Given the description of an element on the screen output the (x, y) to click on. 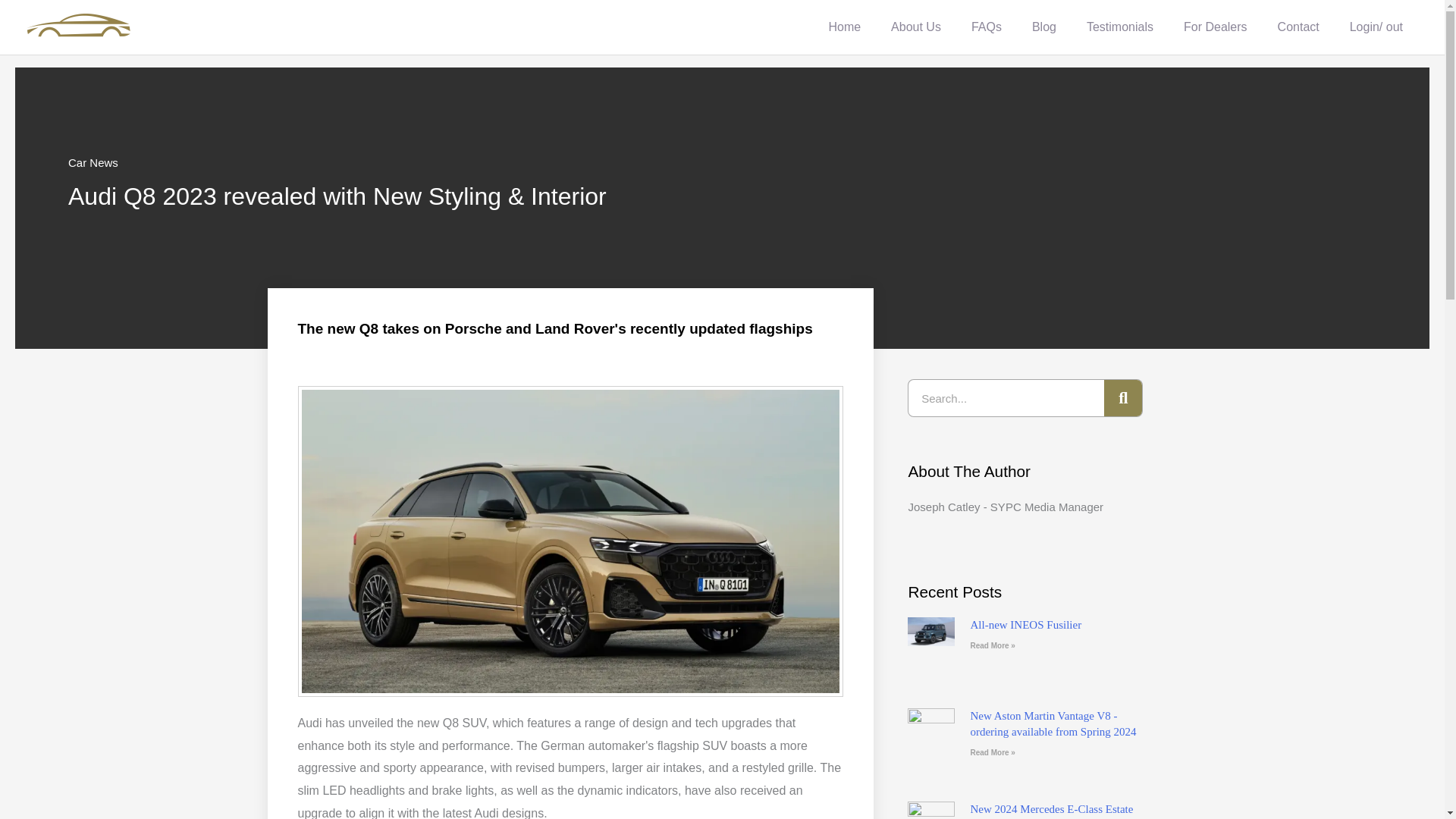
Car News (92, 162)
Testimonials (1120, 27)
Blog (1043, 27)
For Dealers (1215, 27)
FAQs (986, 27)
Contact (1298, 27)
About Us (916, 27)
Home (844, 27)
All-new INEOS Fusilier (1025, 624)
